Given the description of an element on the screen output the (x, y) to click on. 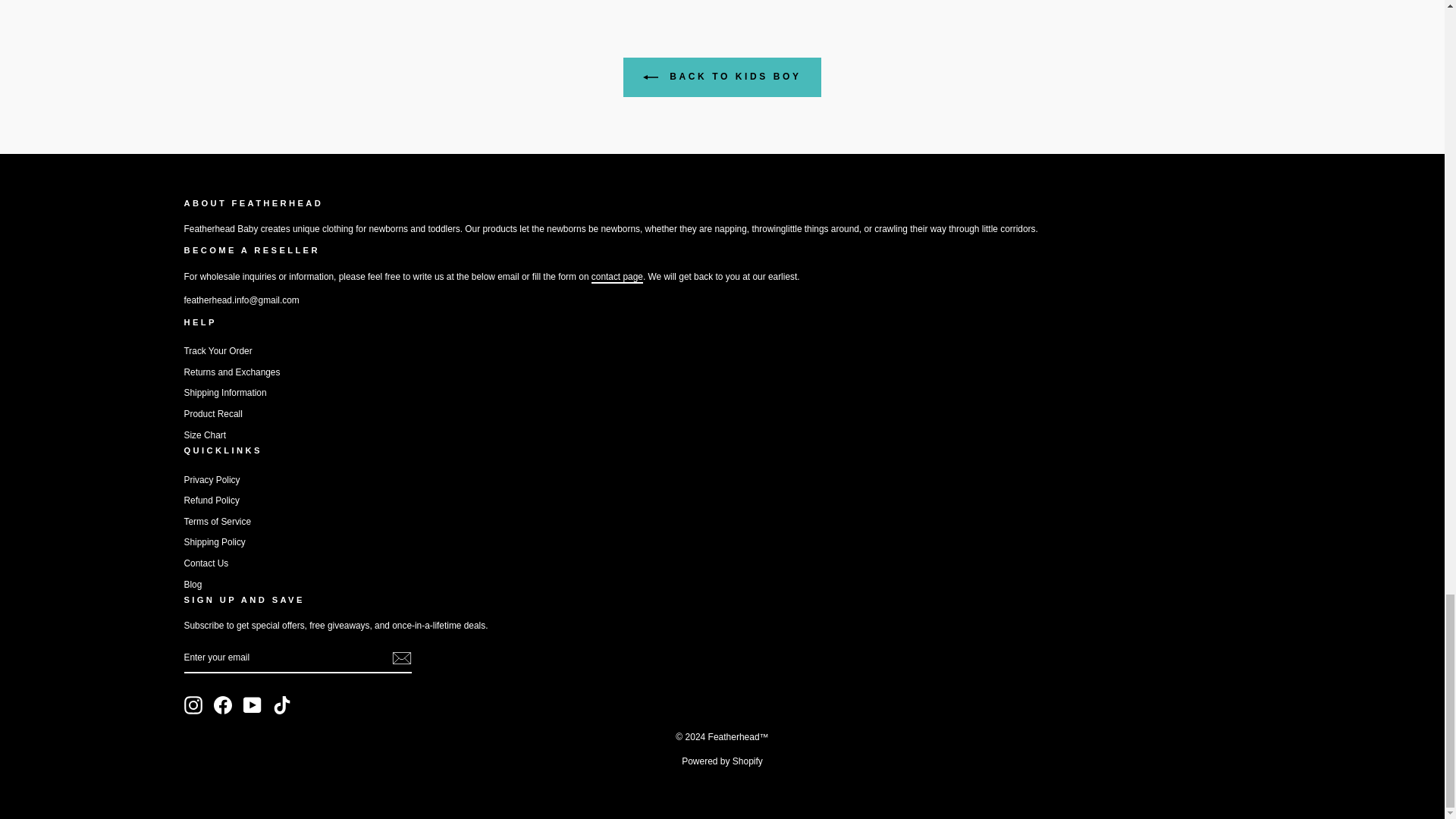
instagram (192, 705)
ICON-LEFT-ARROW (650, 77)
Contact Us (617, 277)
icon-email (400, 658)
